Given the description of an element on the screen output the (x, y) to click on. 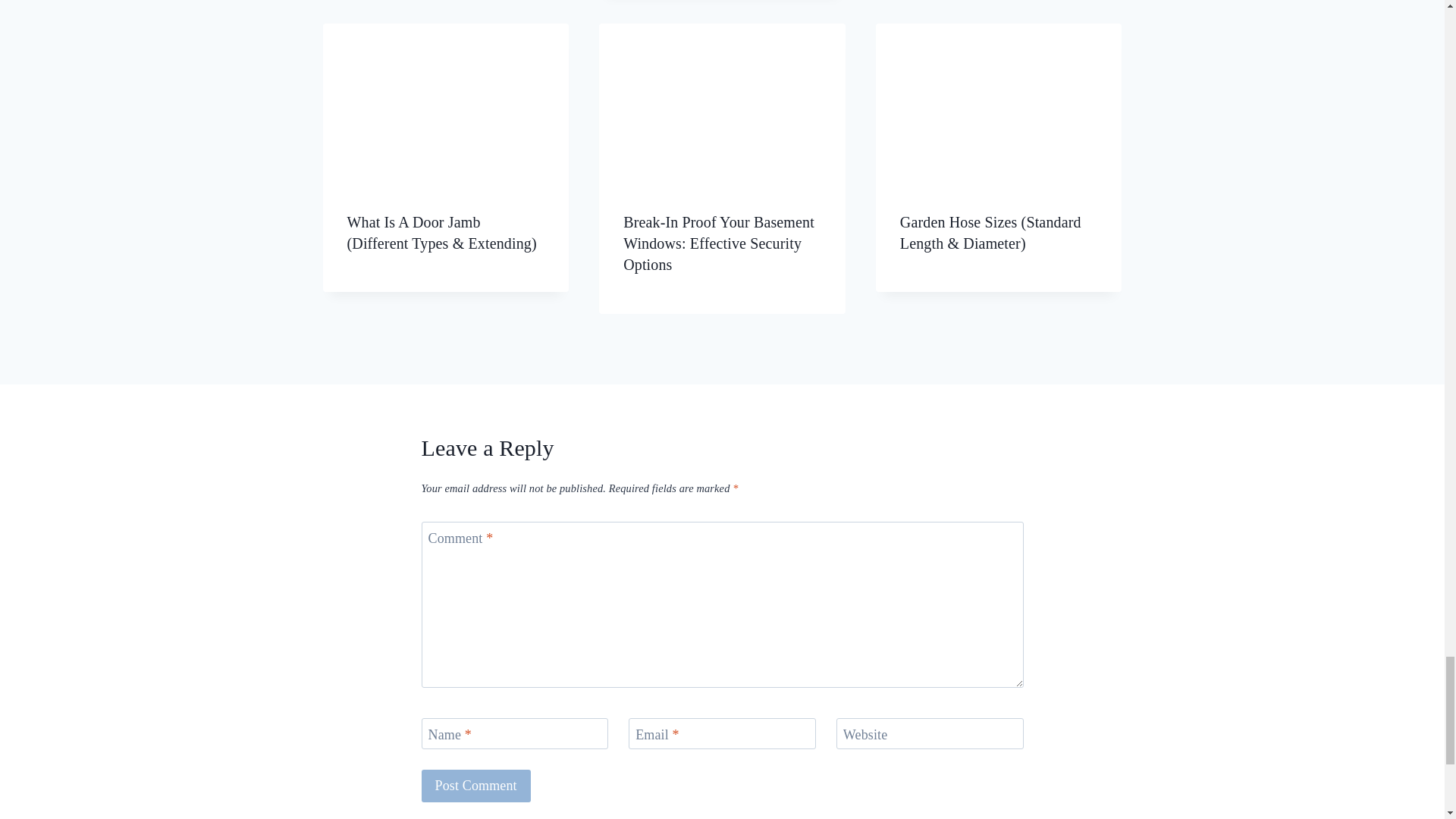
Post Comment (476, 785)
